Given the description of an element on the screen output the (x, y) to click on. 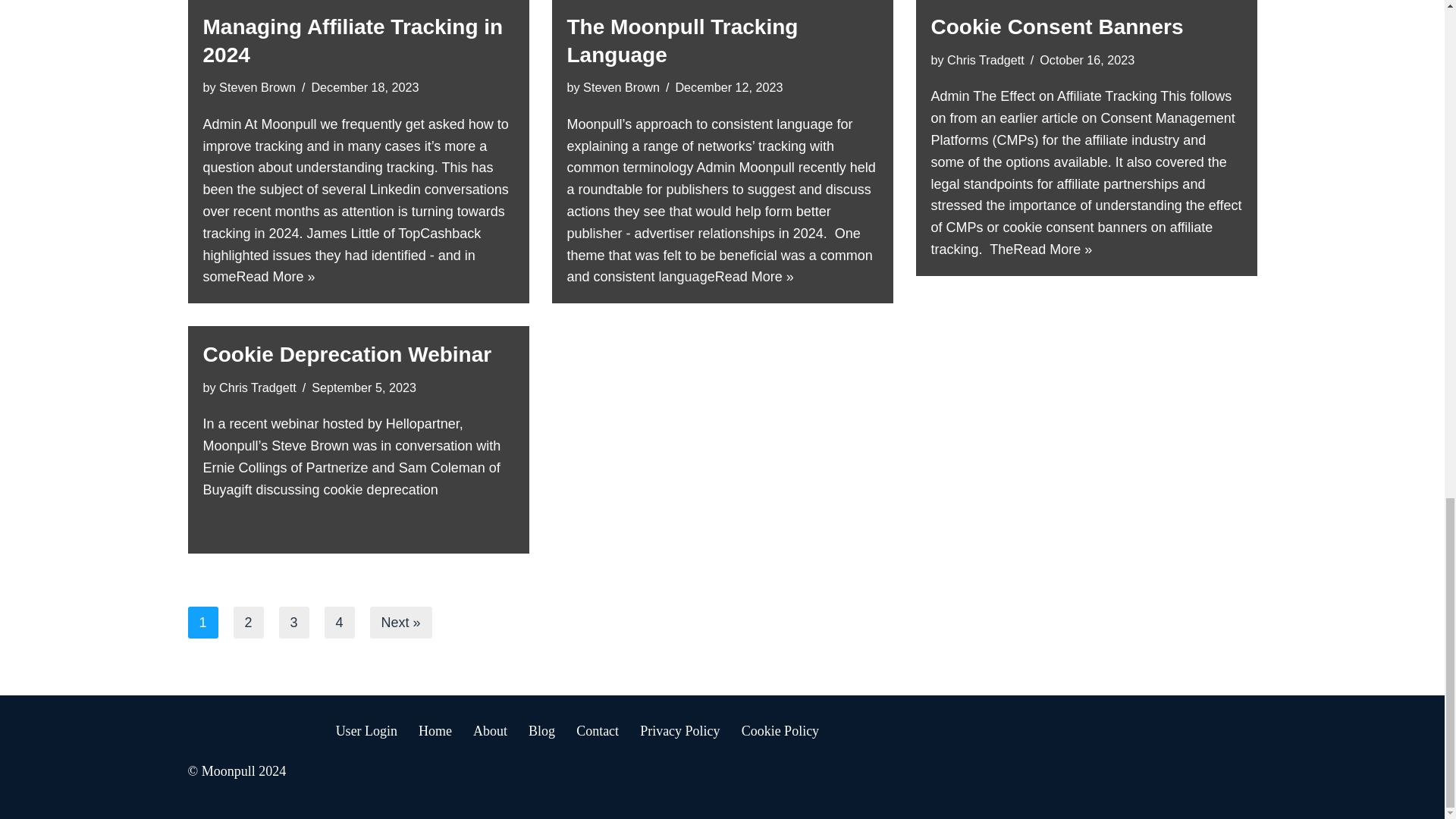
Posts by Chris Tradgett (986, 59)
Posts by Steven Brown (257, 87)
Posts by Steven Brown (621, 87)
Managing Affiliate Tracking in 2024 (353, 40)
Steven Brown (621, 87)
Steven Brown (257, 87)
The Moonpull Tracking Language (682, 40)
Posts by Chris Tradgett (258, 386)
